Given the description of an element on the screen output the (x, y) to click on. 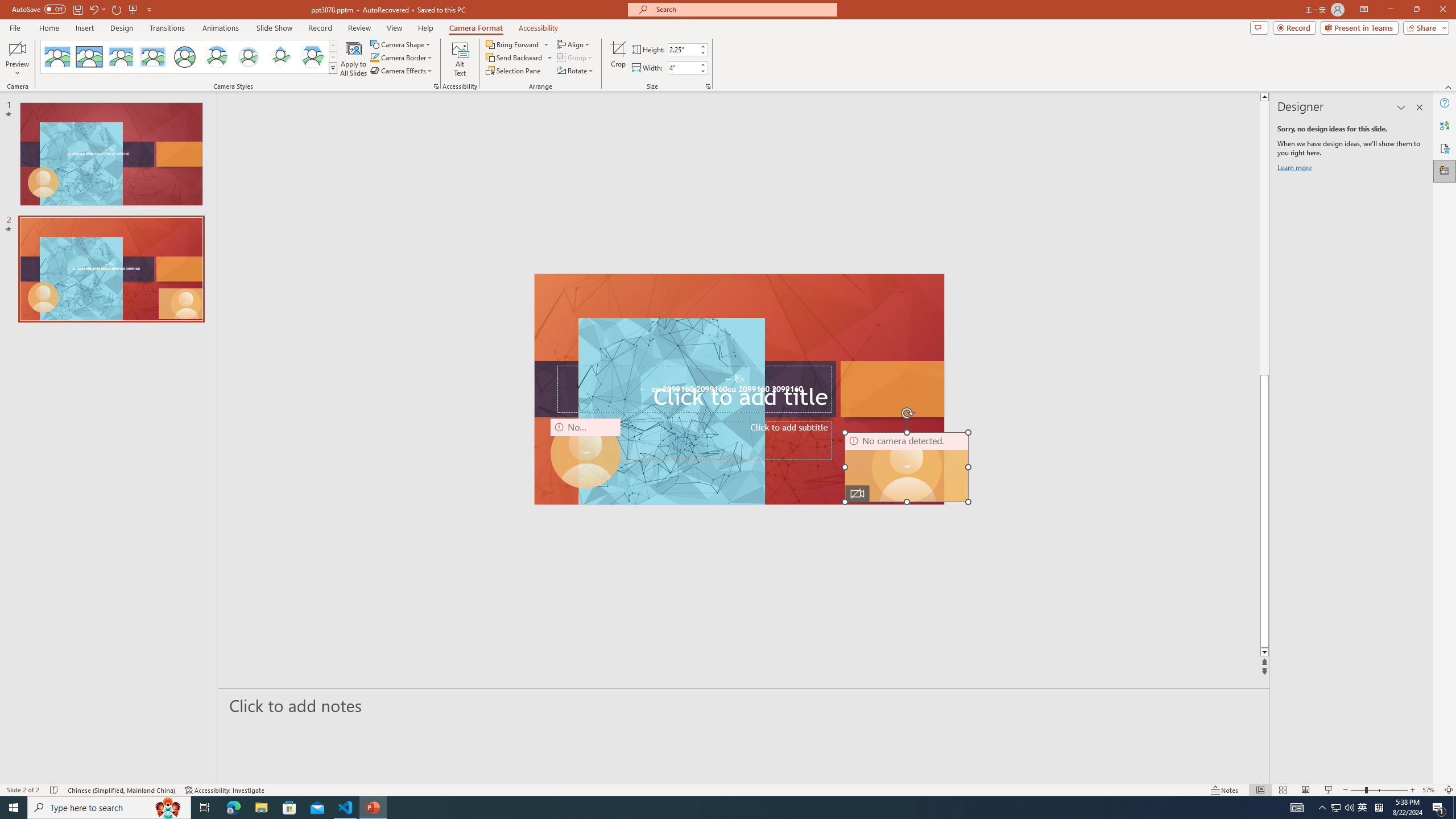
Cameo Width (682, 67)
Selection Pane... (513, 69)
Camera 14, No camera detected. (906, 466)
Center Shadow Rectangle (120, 56)
Camera Styles (333, 67)
Camera Shape (400, 44)
